Given the description of an element on the screen output the (x, y) to click on. 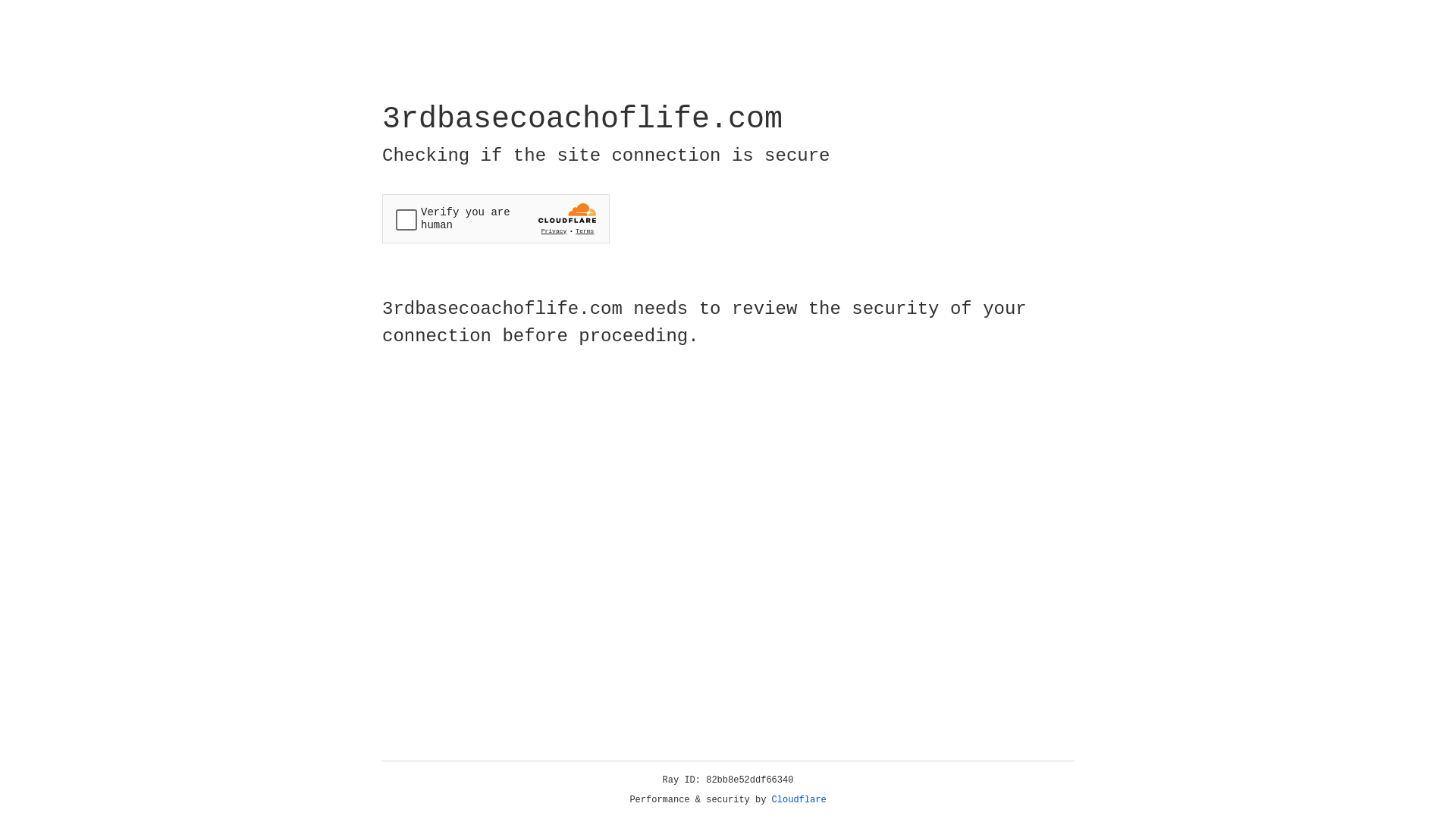
Widget containing a Cloudflare security challenge Element type: hover (495, 218)
Cloudflare Element type: text (798, 799)
